Given the description of an element on the screen output the (x, y) to click on. 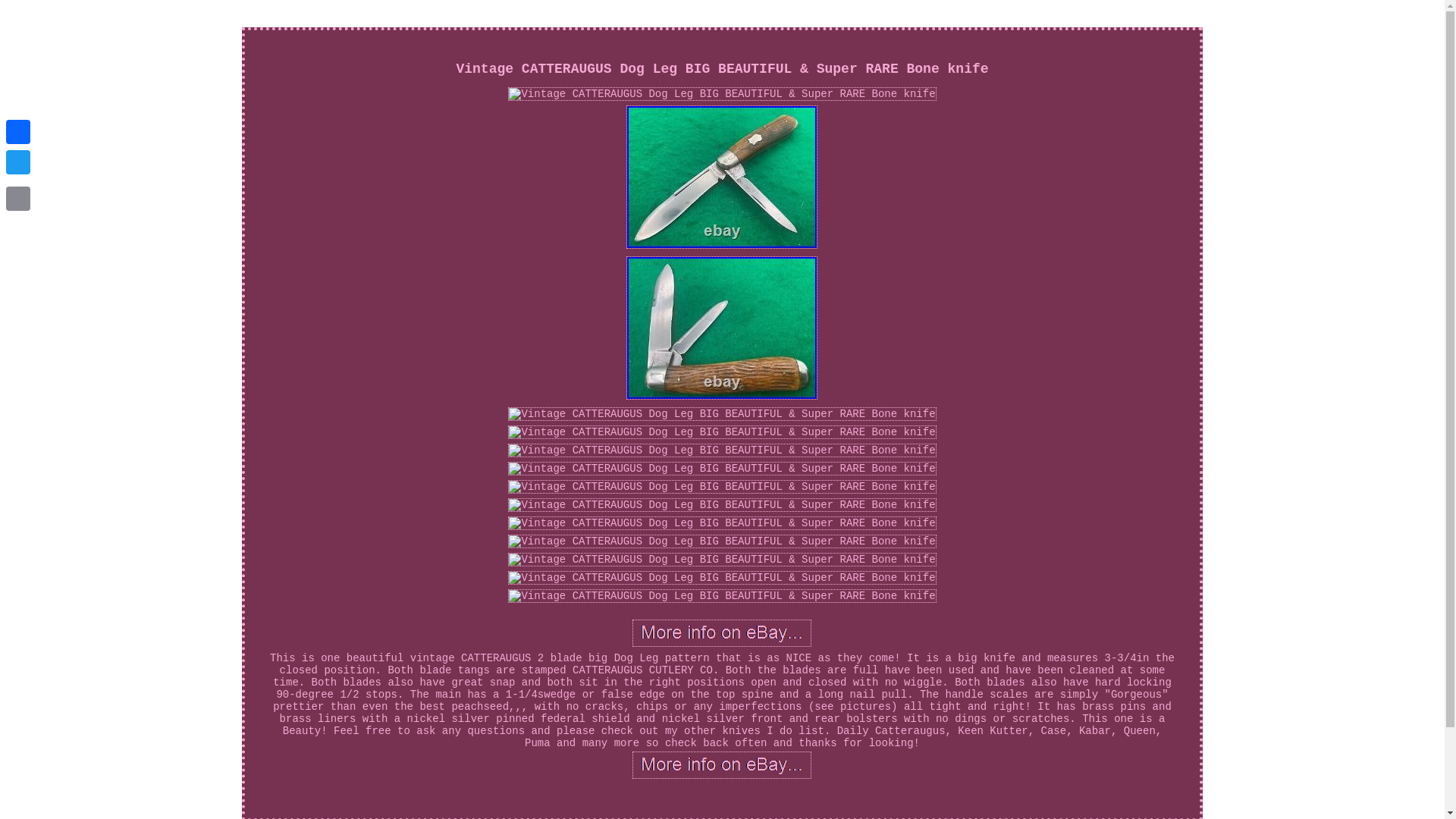
Email (17, 198)
Twitter (17, 162)
Facebook (17, 132)
